Given the description of an element on the screen output the (x, y) to click on. 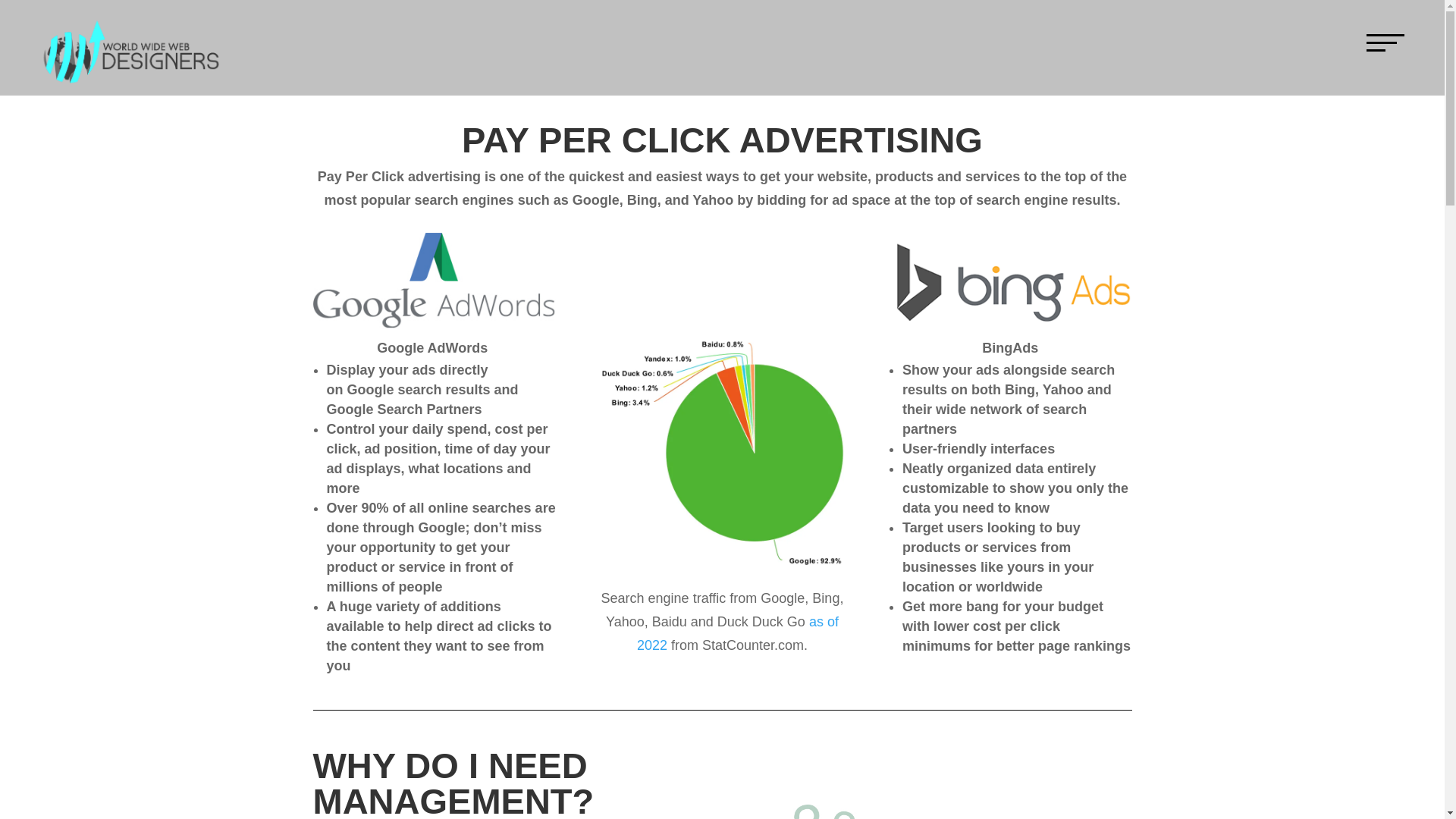
flat-logowtext2 (130, 52)
as of 2022 (737, 633)
Search Engine Traffic Share 2023 (721, 450)
